Given the description of an element on the screen output the (x, y) to click on. 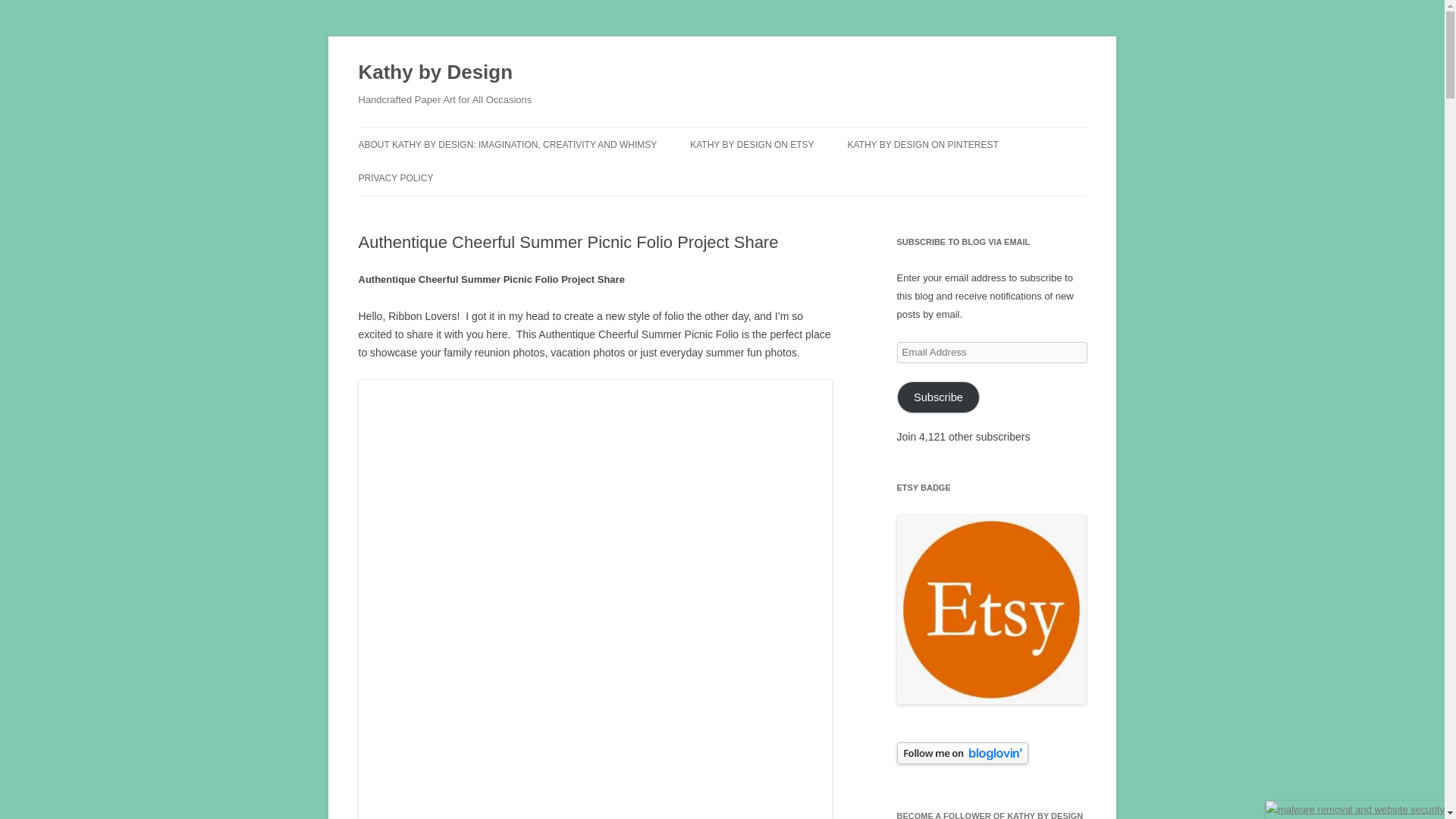
Kathy by Design (435, 72)
PRIVACY POLICY (395, 177)
KATHY BY DESIGN ON PINTEREST (922, 144)
KATHY BY DESIGN ON ETSY (751, 144)
ABOUT KATHY BY DESIGN: IMAGINATION, CREATIVITY AND WHIMSY (507, 144)
